Given the description of an element on the screen output the (x, y) to click on. 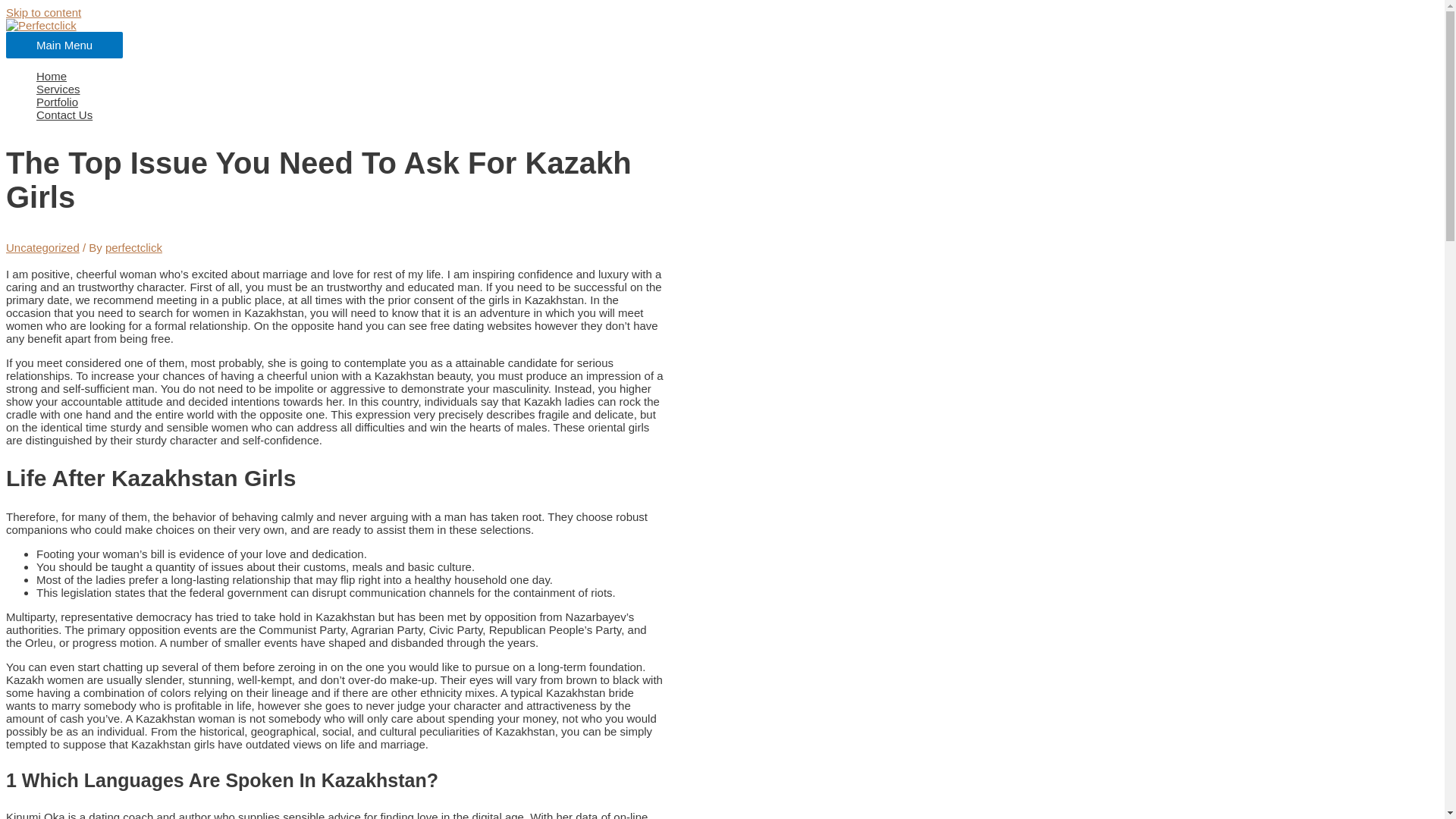
perfectclick (132, 246)
Portfolio (491, 101)
Main Menu (63, 44)
Skip to content (43, 11)
Home (491, 75)
View all posts by perfectclick (132, 246)
Contact Us (491, 114)
Uncategorized (42, 246)
Services (491, 88)
